Given the description of an element on the screen output the (x, y) to click on. 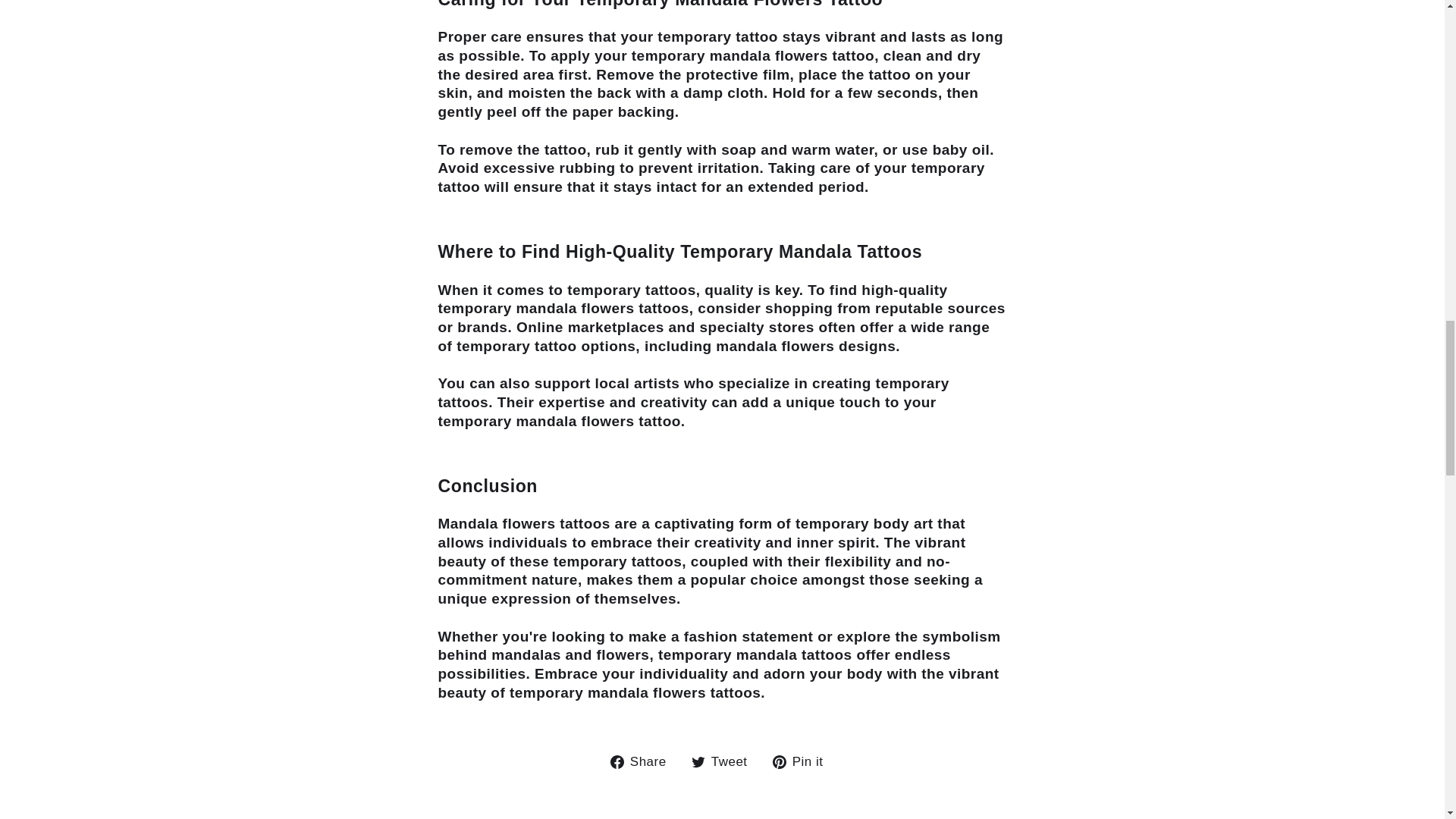
twitter (697, 762)
Tweet on Twitter (724, 761)
Share on Facebook (644, 761)
Pin on Pinterest (803, 761)
